Given the description of an element on the screen output the (x, y) to click on. 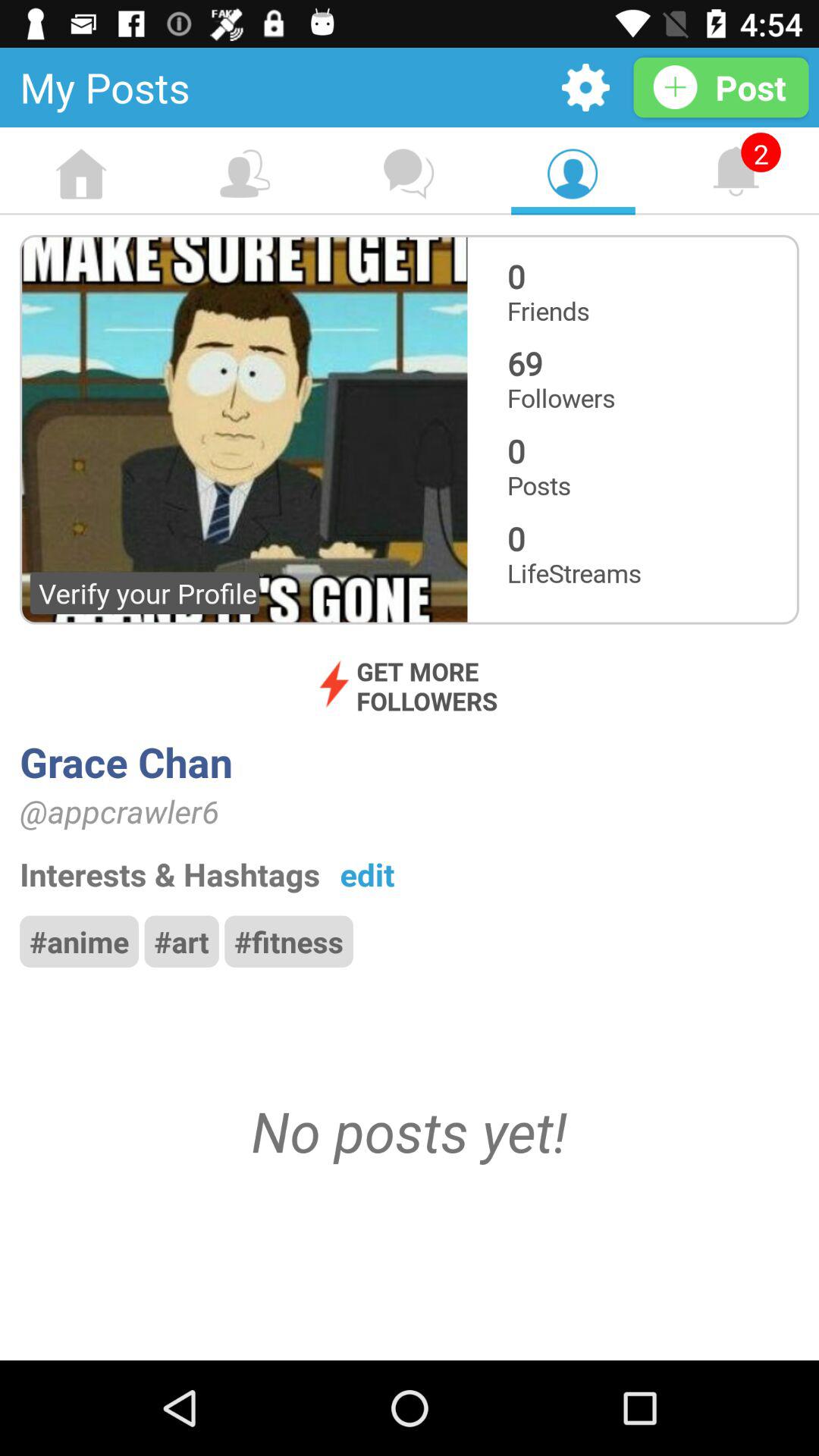
select icon next to 0
friends icon (243, 429)
